Given the description of an element on the screen output the (x, y) to click on. 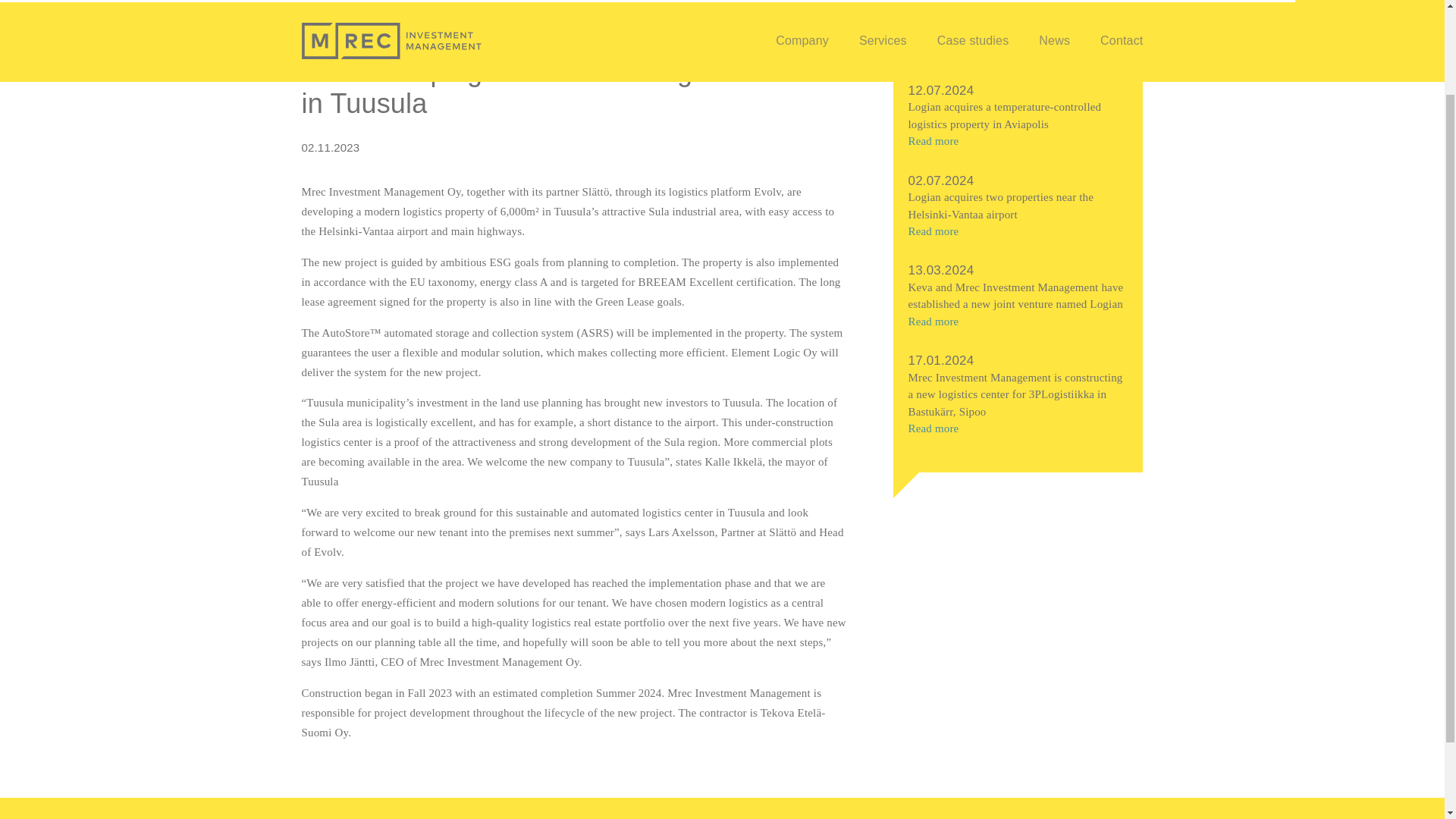
More (1018, 44)
